Given the description of an element on the screen output the (x, y) to click on. 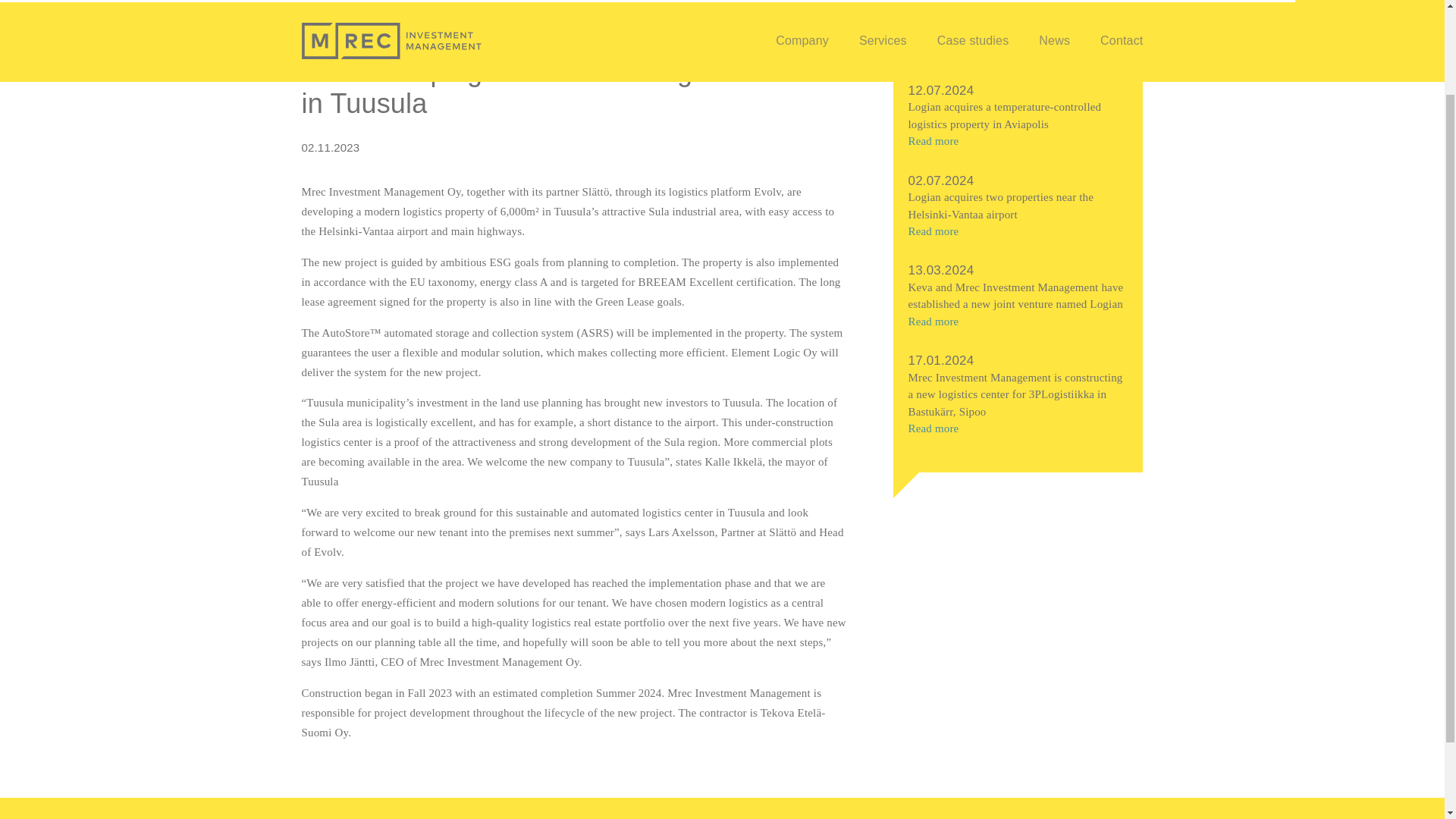
More (1018, 44)
